Given the description of an element on the screen output the (x, y) to click on. 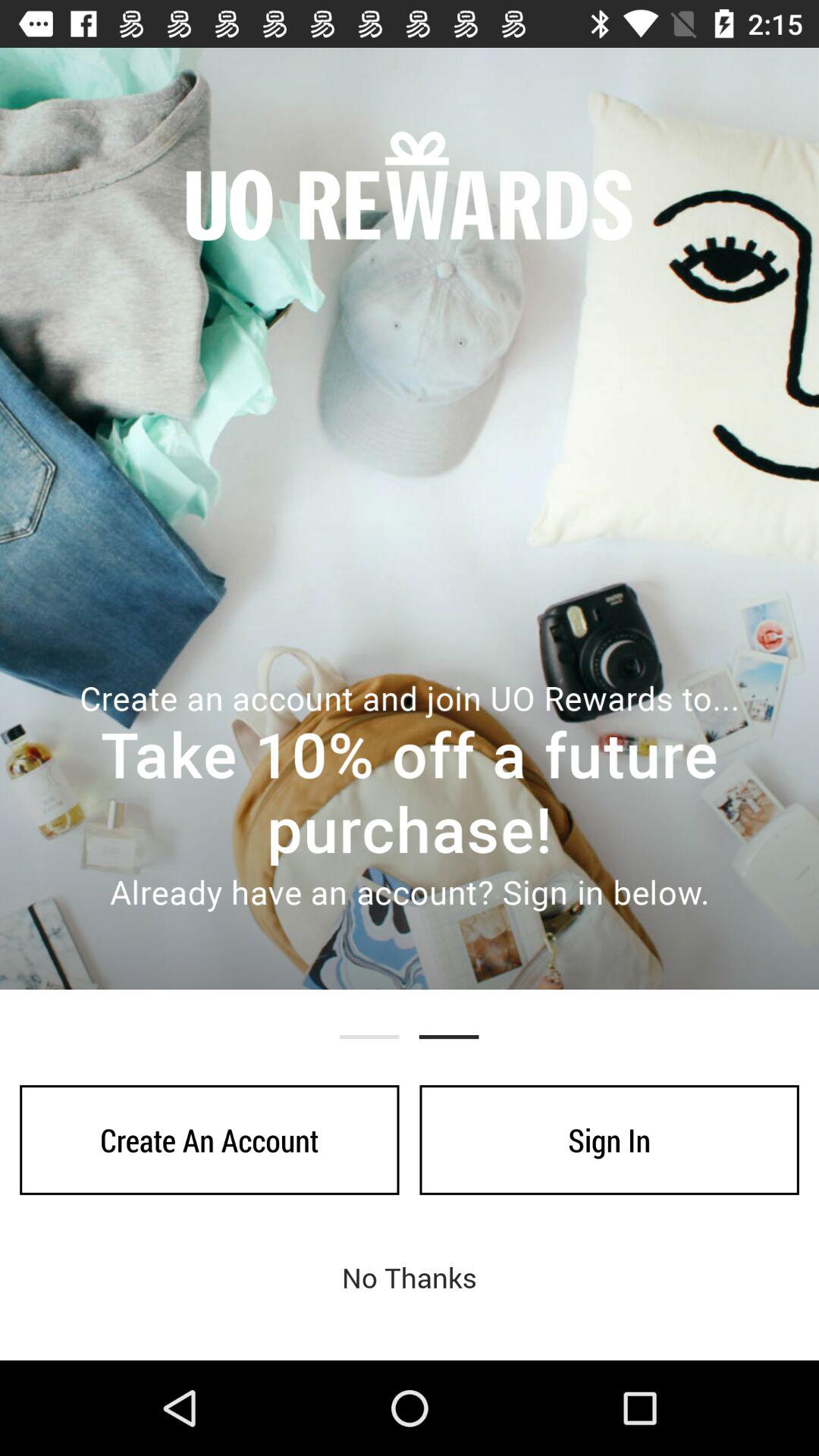
scroll to create an account item (209, 1139)
